Given the description of an element on the screen output the (x, y) to click on. 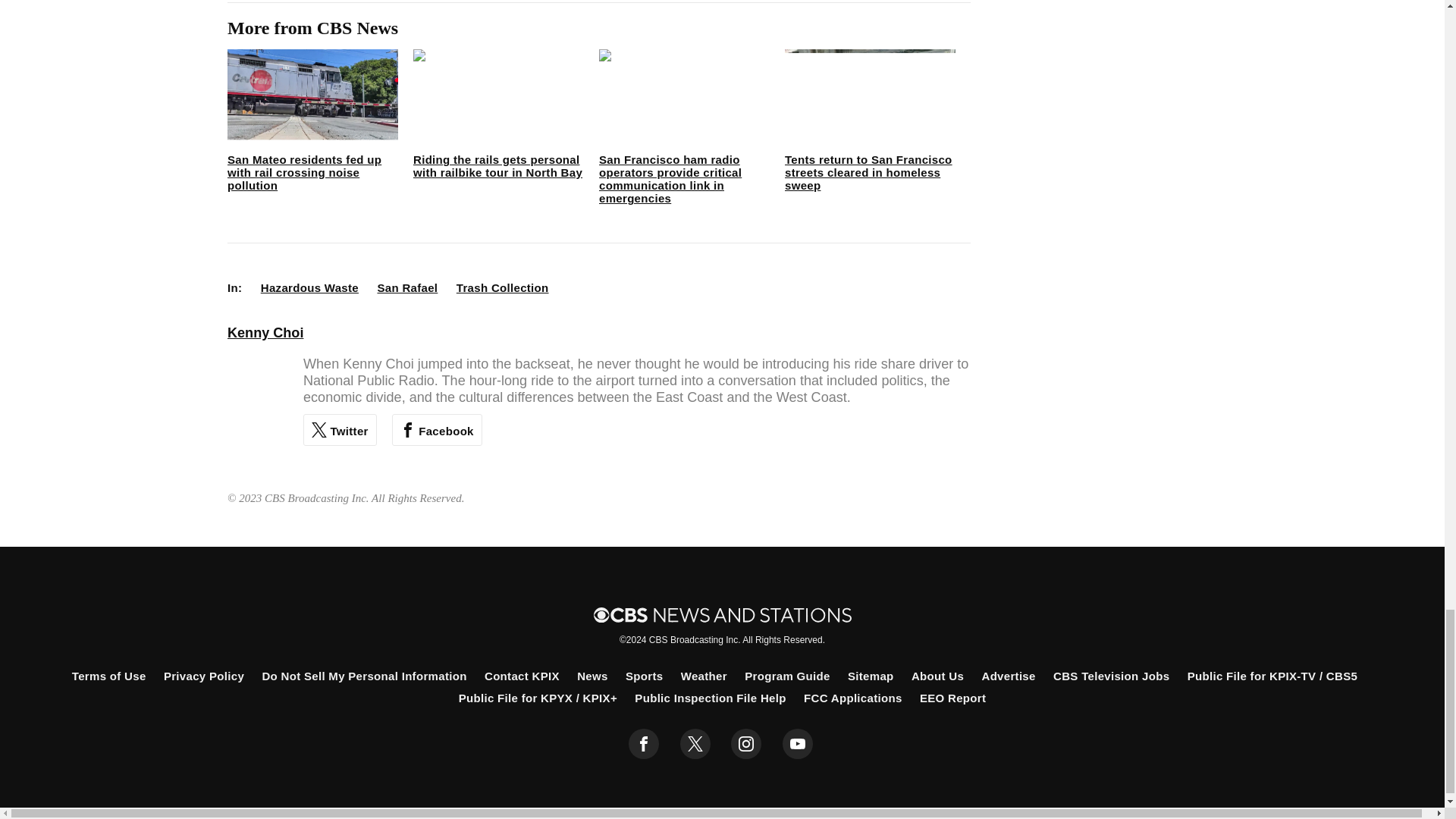
youtube (797, 743)
twitter (694, 743)
instagram (745, 743)
facebook (643, 743)
